Given the description of an element on the screen output the (x, y) to click on. 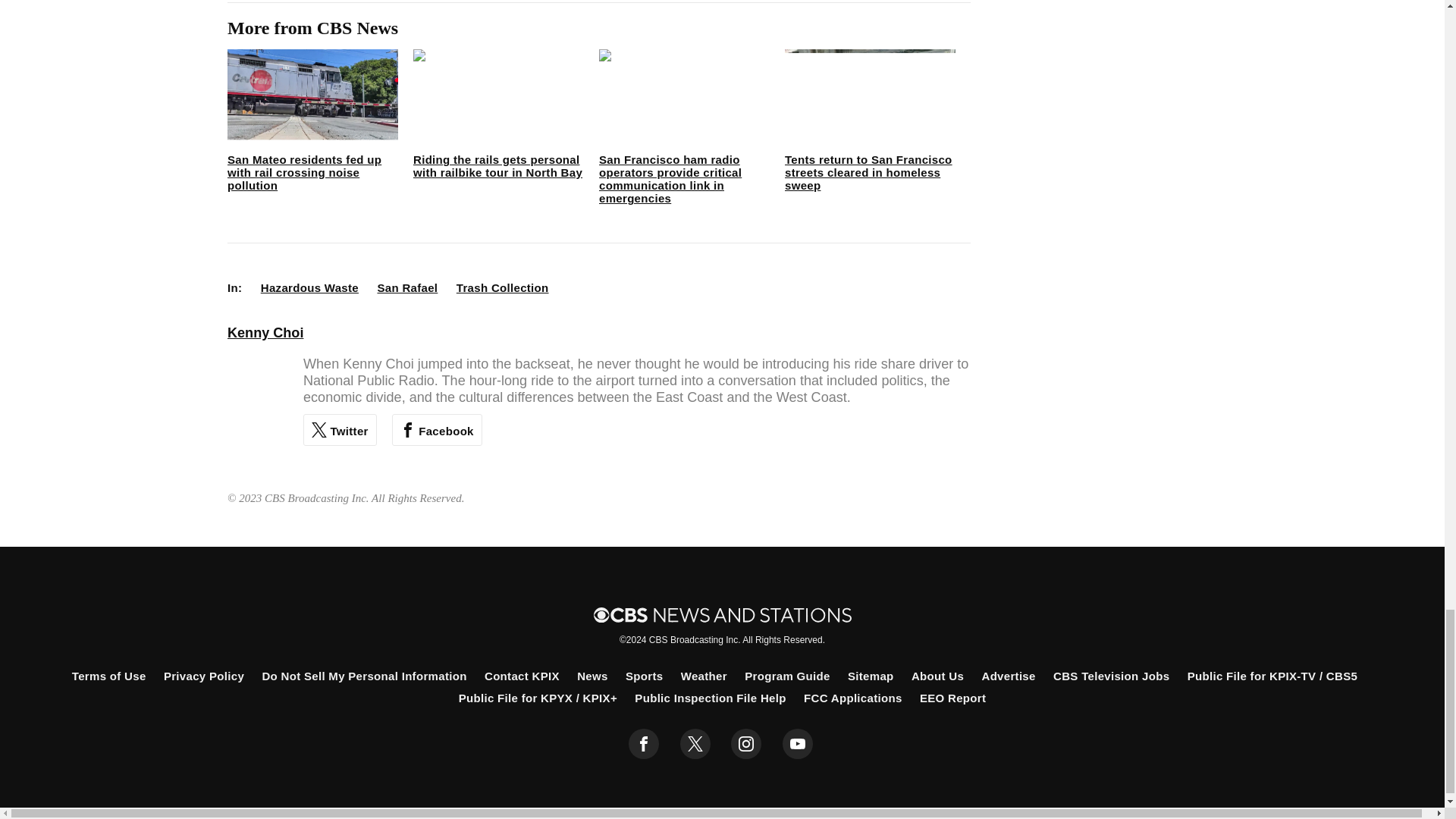
youtube (797, 743)
twitter (694, 743)
instagram (745, 743)
facebook (643, 743)
